Given the description of an element on the screen output the (x, y) to click on. 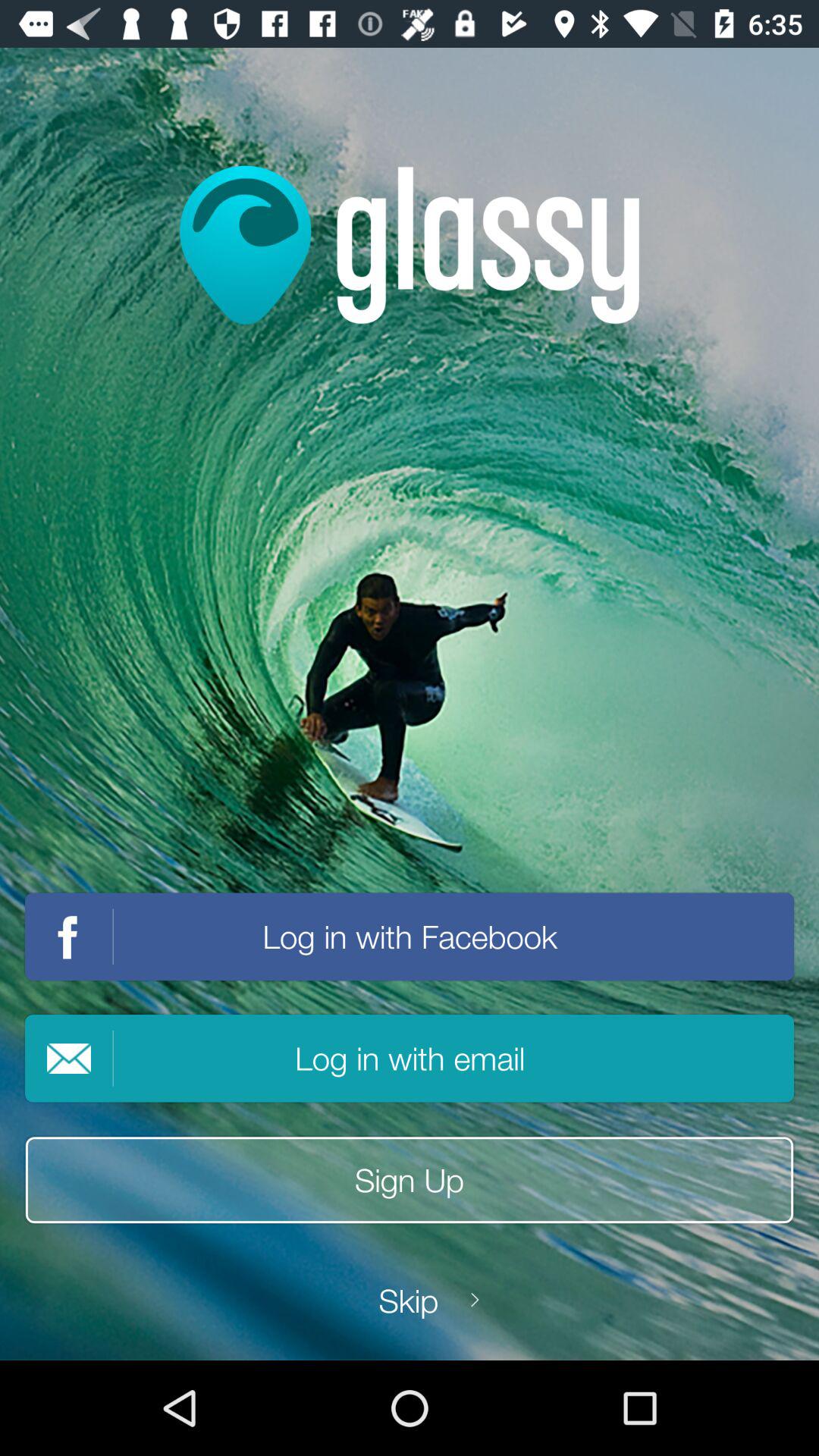
turn off icon below the sign up (408, 1300)
